Given the description of an element on the screen output the (x, y) to click on. 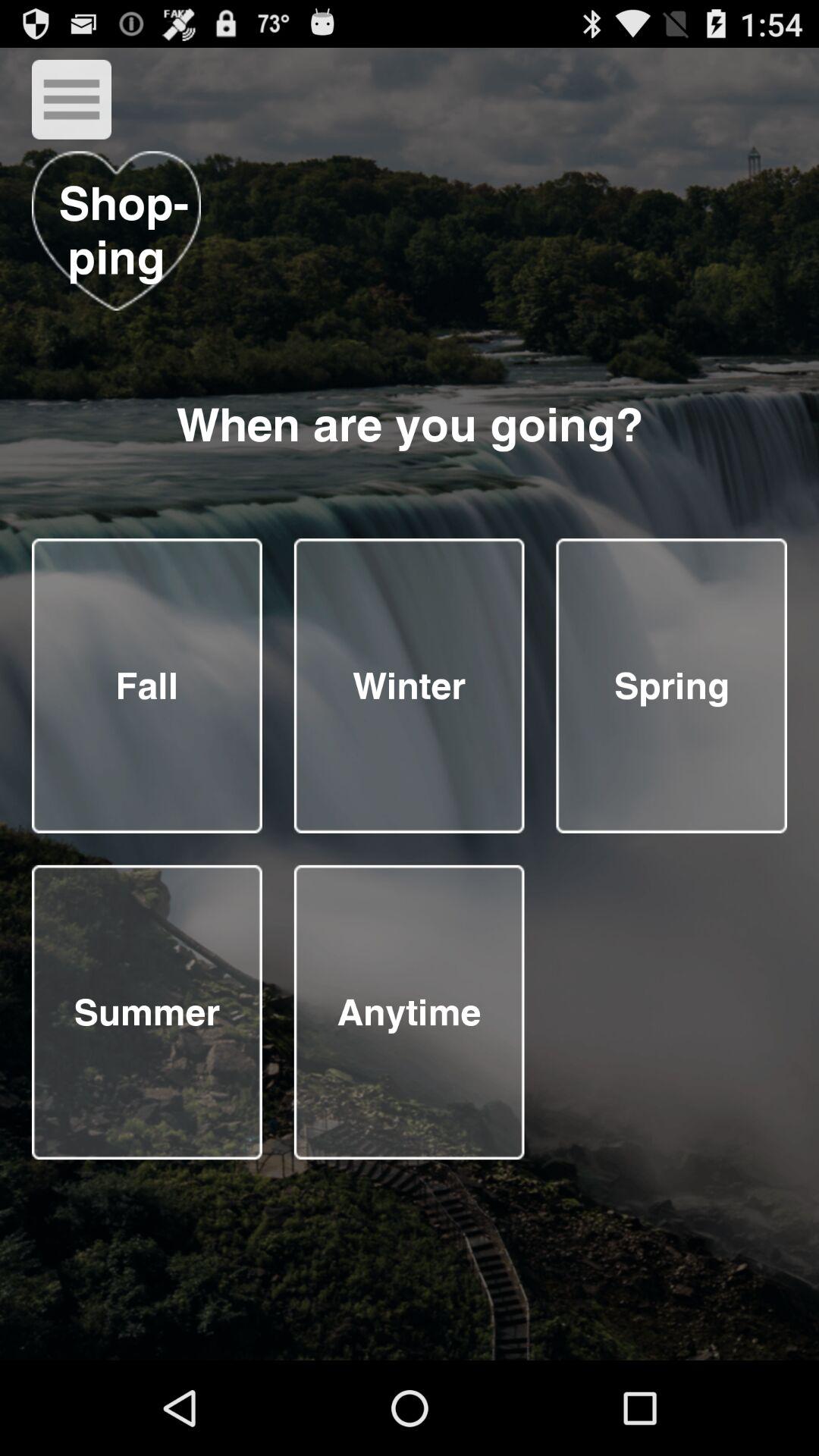
menu (71, 99)
